Given the description of an element on the screen output the (x, y) to click on. 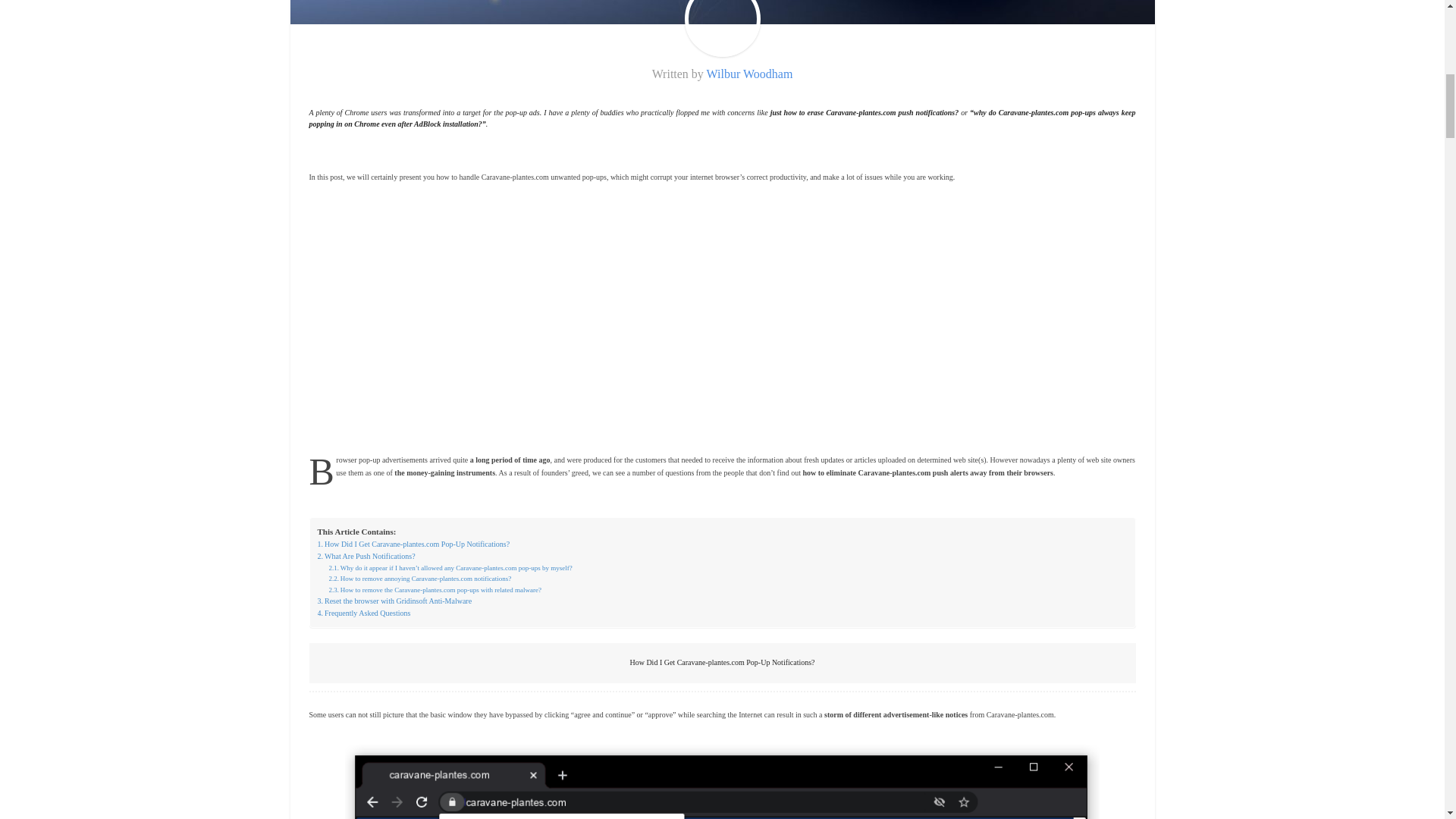
Reset the browser with Gridinsoft Anti-Malware (394, 601)
Reset the browser with Gridinsoft Anti-Malware (394, 601)
How Did I Get Caravane-plantes.com Pop-Up Notifications? (413, 544)
Wilbur Woodham (749, 73)
How Did I Get Caravane-plantes.com Pop-Up Notifications? (413, 544)
Frequently Asked Questions (363, 613)
How to remove annoying Caravane-plantes.com notifications? (420, 578)
What Are Push Notifications? (365, 556)
Frequently Asked Questions (363, 613)
What Are Push Notifications? (365, 556)
How to remove annoying Caravane-plantes.com notifications? (420, 578)
